Given the description of an element on the screen output the (x, y) to click on. 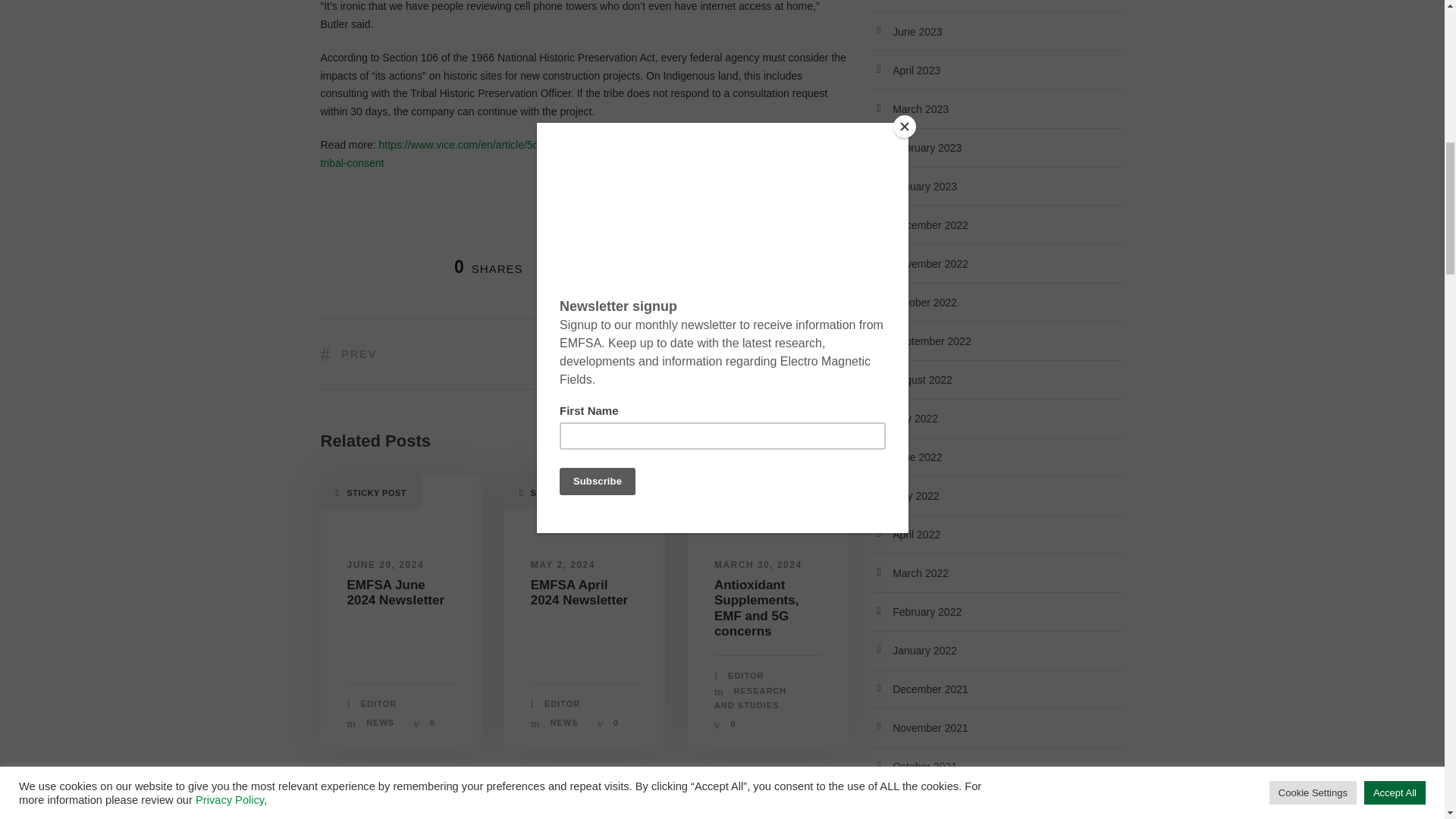
Posts by Editor (378, 703)
Posts by Editor (561, 703)
Posts by Editor (745, 675)
